Given the description of an element on the screen output the (x, y) to click on. 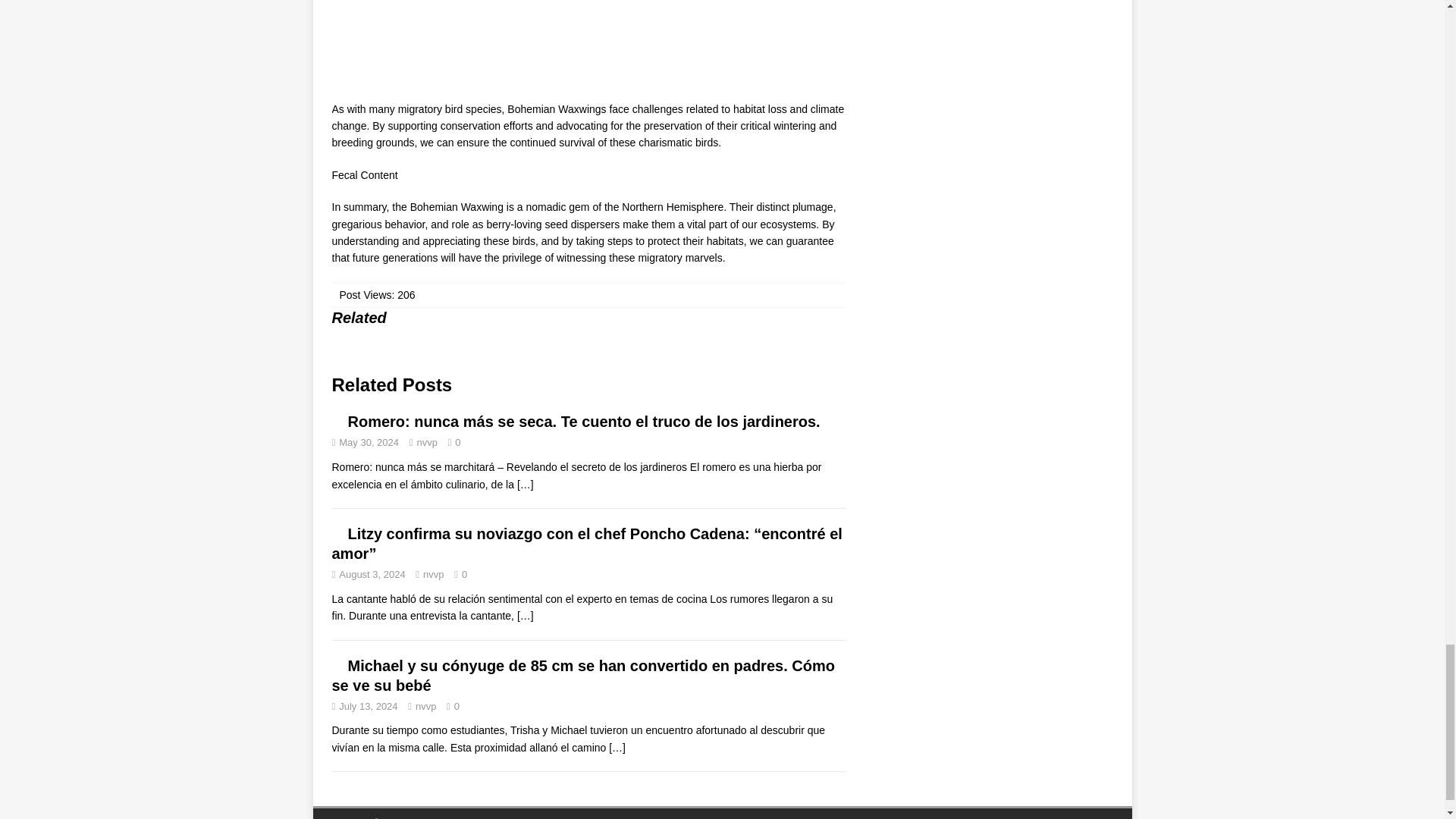
nvvp (424, 706)
nvvp (433, 573)
nvvp (426, 441)
